Given the description of an element on the screen output the (x, y) to click on. 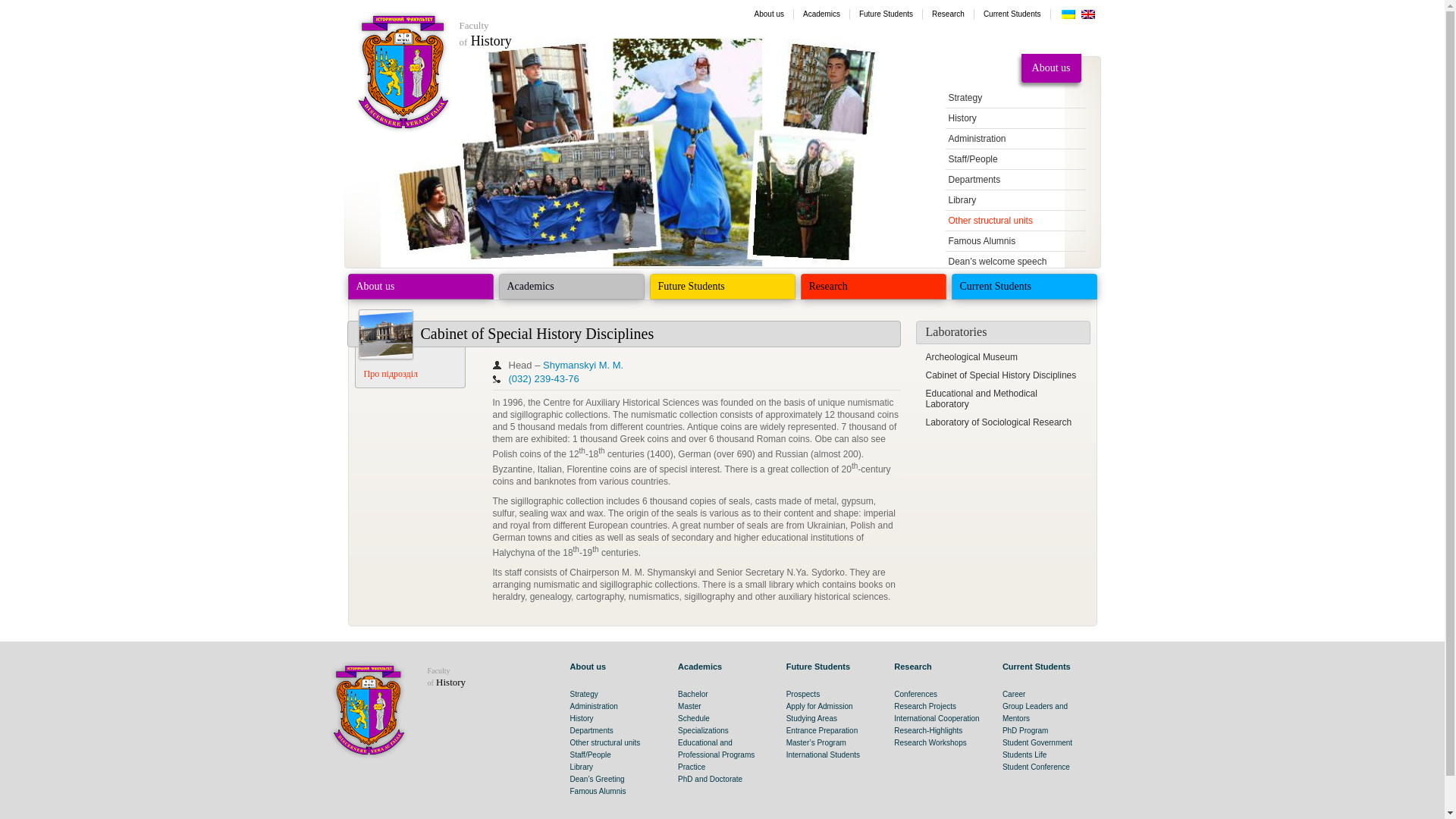
Academics (821, 13)
Research (948, 13)
Current Students (486, 32)
About us (1011, 13)
Future Students (769, 13)
